Given the description of an element on the screen output the (x, y) to click on. 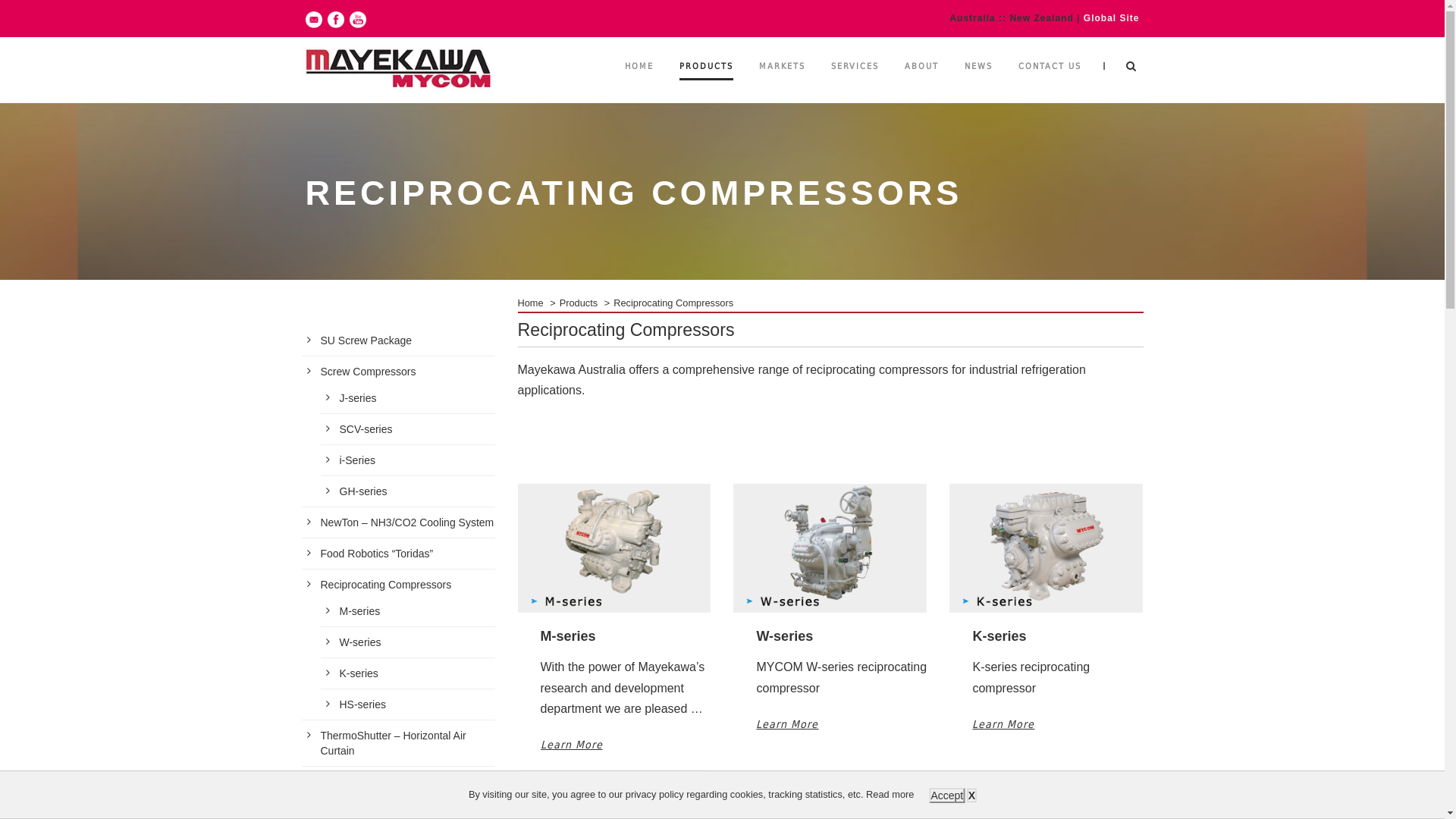
CONTACT US Element type: text (1048, 81)
Screw Compressors Element type: text (367, 371)
Learn More Element type: text (787, 724)
Accept Element type: text (946, 795)
GH-series Element type: text (363, 491)
J-series Element type: text (357, 398)
SERVICES Element type: text (854, 81)
Reciprocating Compressors Element type: text (385, 584)
Products Element type: text (578, 302)
HOME Element type: text (638, 81)
Learn More Element type: text (570, 744)
Learn More Element type: text (1003, 724)
PRODUCTS Element type: text (706, 81)
Home Element type: text (529, 302)
MARKETS Element type: text (781, 81)
M-series Element type: text (359, 611)
K-series Element type: text (358, 673)
NEWS Element type: text (978, 81)
ABOUT Element type: text (920, 81)
i-Series Element type: text (357, 460)
Read more Element type: text (889, 794)
Global Site Element type: text (1111, 17)
W-series Element type: text (360, 642)
X Element type: text (971, 795)
SU Screw Package Element type: text (365, 340)
SCV-series Element type: text (365, 429)
HS-series Element type: text (362, 704)
